Given the description of an element on the screen output the (x, y) to click on. 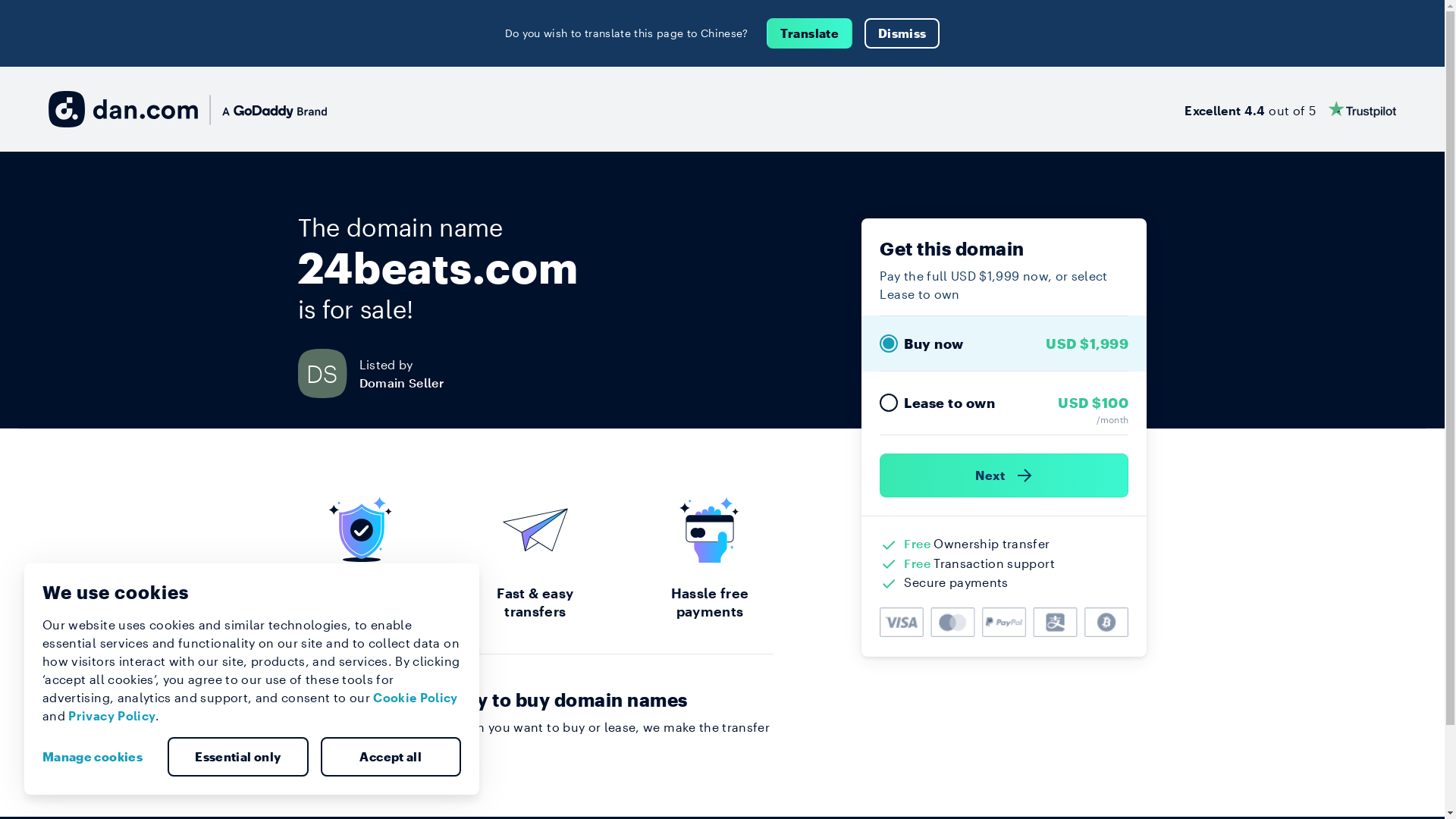
Cookie Policy Element type: text (415, 697)
Privacy Policy Element type: text (111, 715)
Next
) Element type: text (1003, 475)
Translate Element type: text (809, 33)
Essential only Element type: text (237, 756)
Dismiss Element type: text (901, 33)
Accept all Element type: text (390, 756)
Excellent 4.4 out of 5 Element type: text (1290, 109)
Manage cookies Element type: text (98, 756)
